Given the description of an element on the screen output the (x, y) to click on. 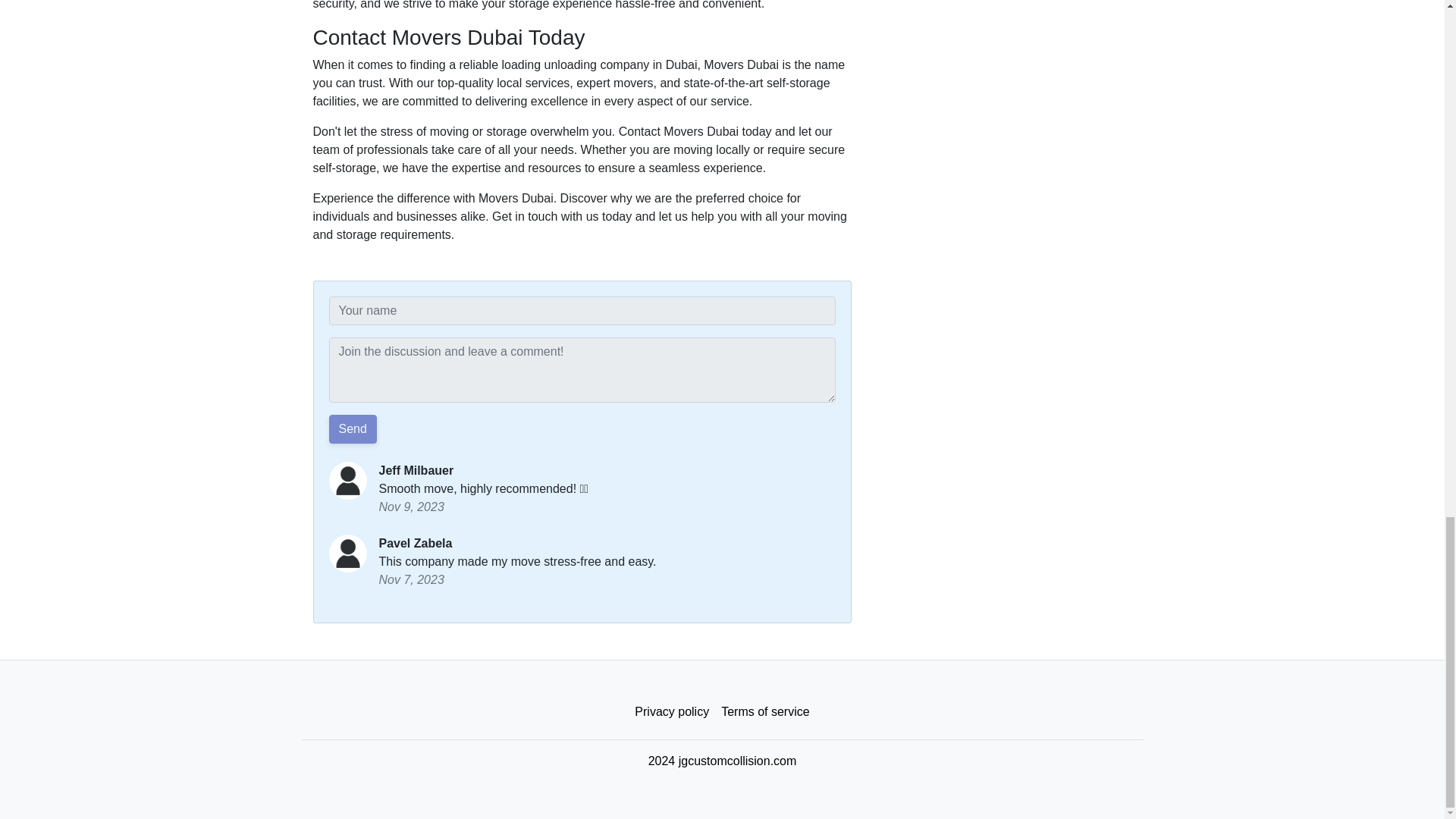
Privacy policy (671, 711)
Send (353, 428)
Send (353, 428)
Terms of service (764, 711)
